Given the description of an element on the screen output the (x, y) to click on. 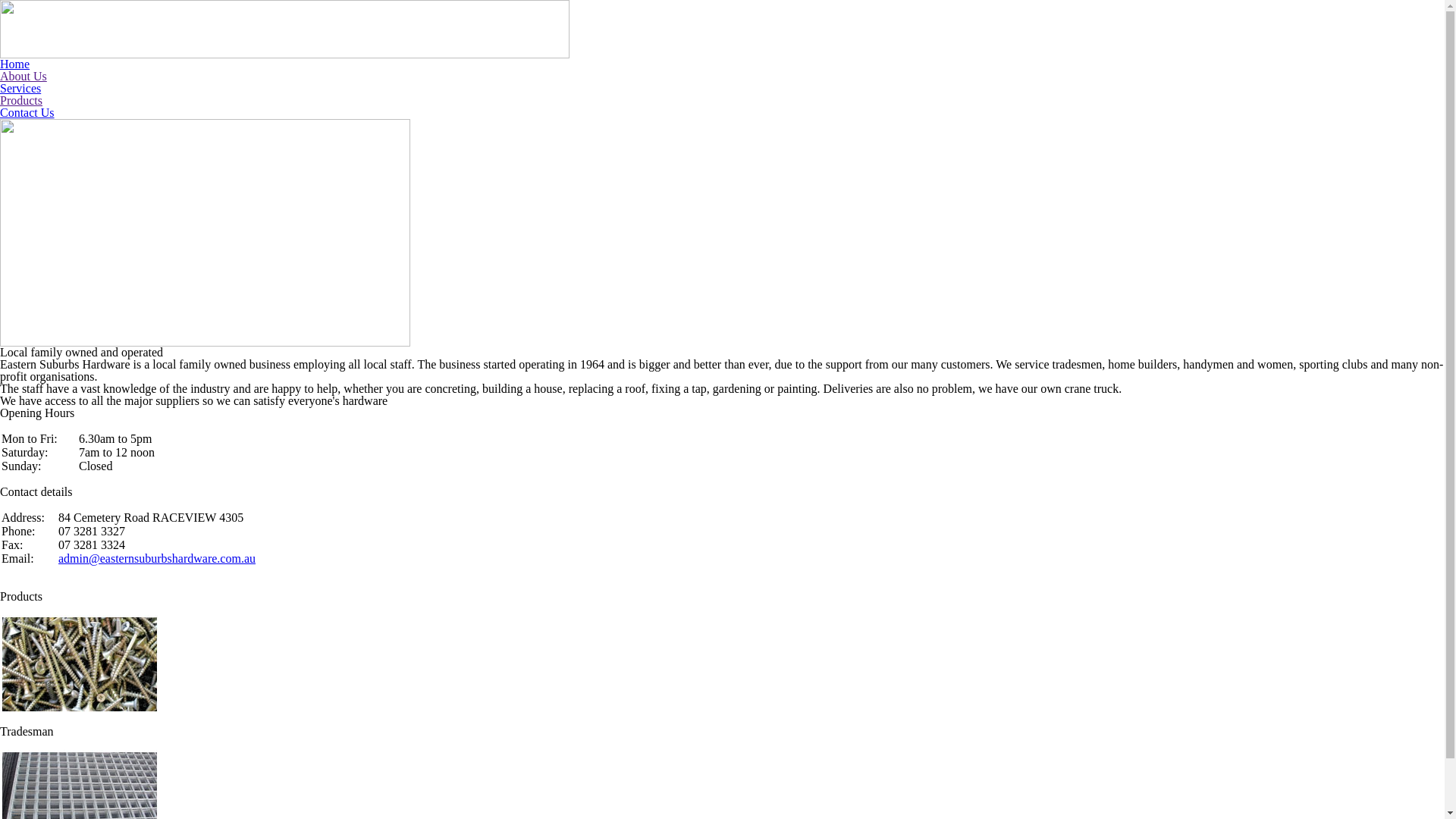
admin@easternsuburbshardware.com.au Element type: text (156, 558)
Contact Us Element type: text (27, 112)
Home Element type: text (14, 63)
Services Element type: text (20, 87)
Products Element type: text (21, 100)
About Us Element type: text (23, 75)
